Given the description of an element on the screen output the (x, y) to click on. 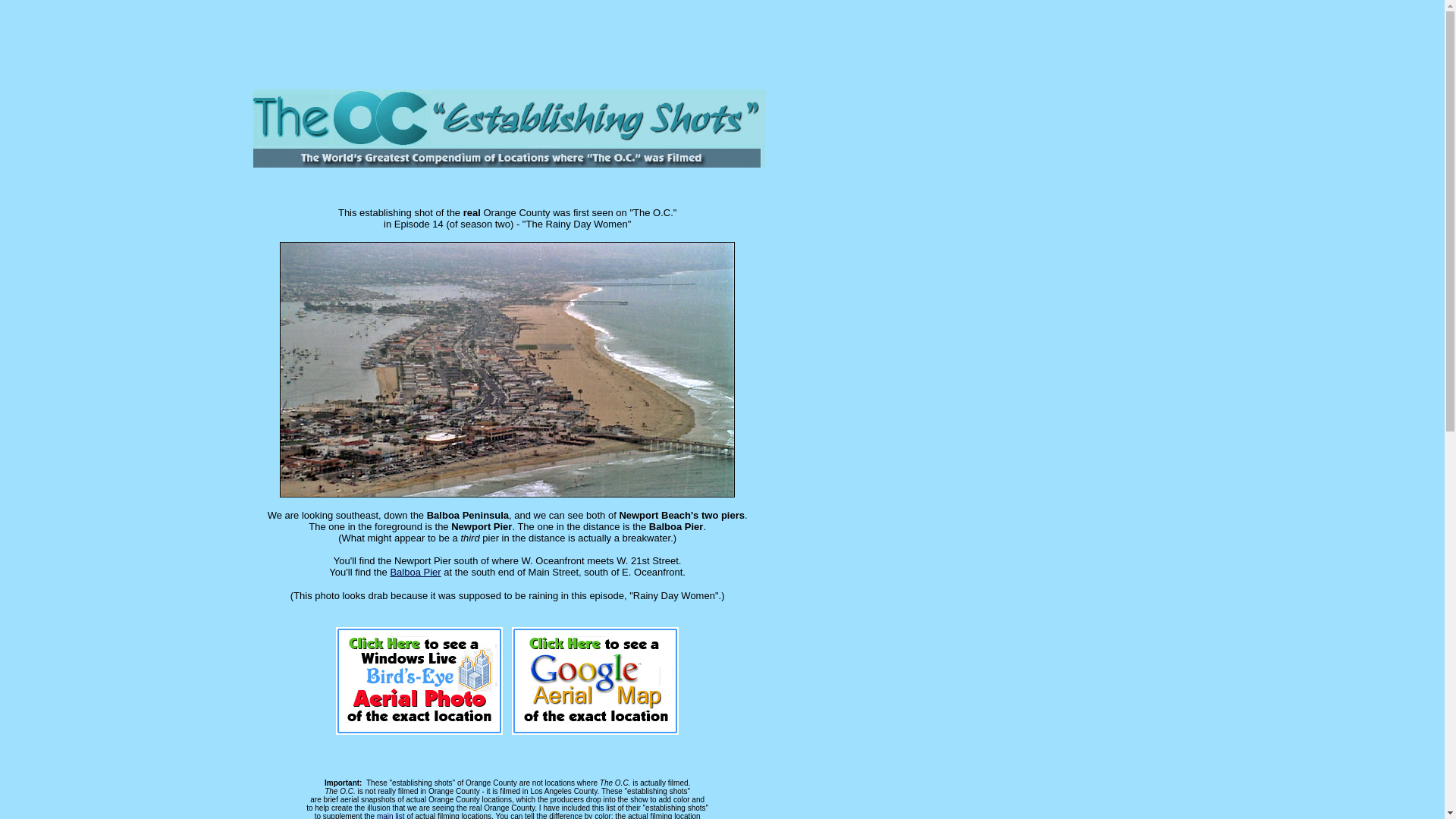
main list (390, 815)
Balboa Pier (415, 572)
Advertisement (751, 40)
